Given the description of an element on the screen output the (x, y) to click on. 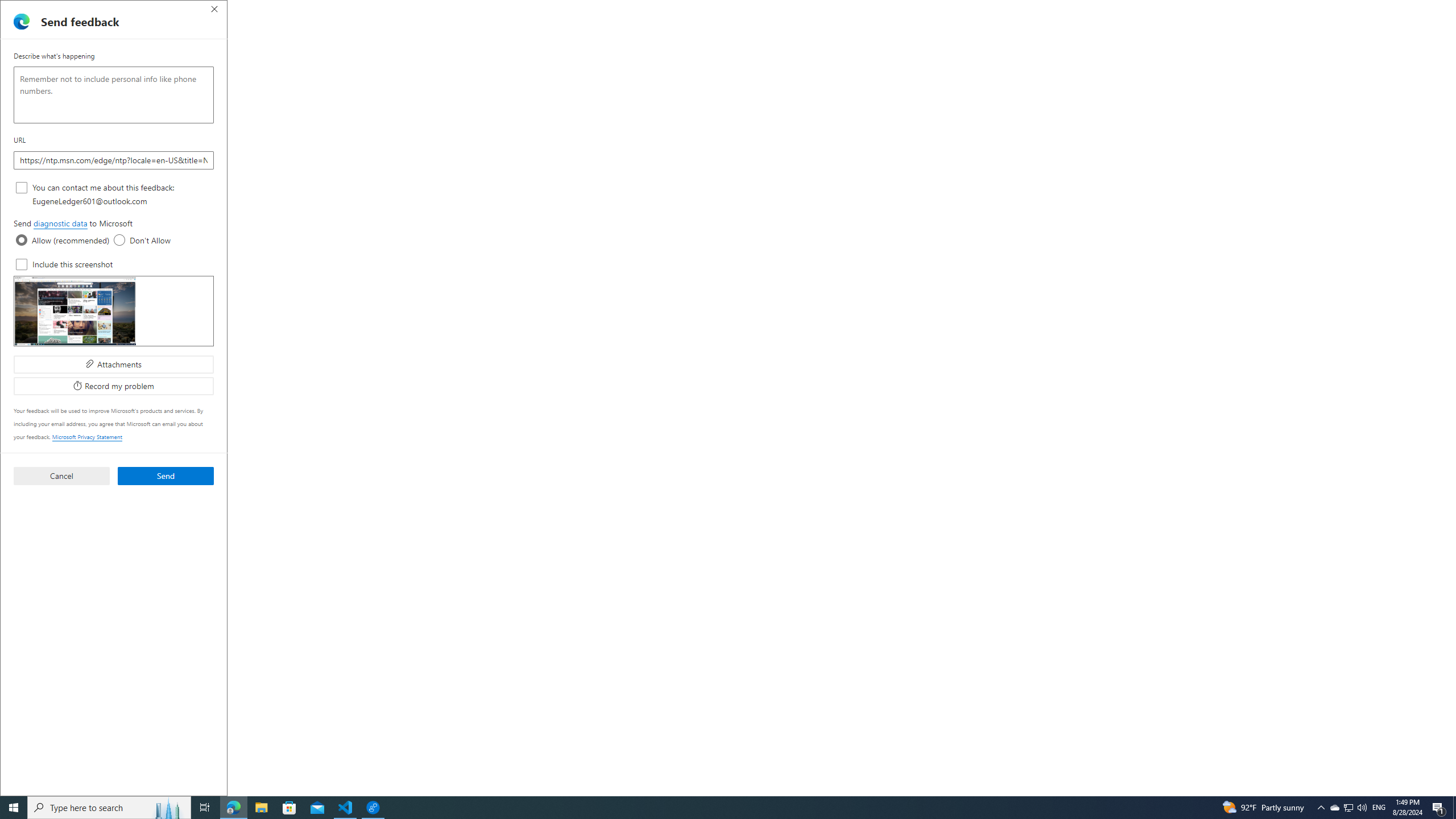
App bar (728, 29)
What's the best AI voice generator? - voice.ai - Sleeping (337, 9)
Minimize (1390, 9)
Privacy report (514, 54)
Split screen (1344, 29)
Personal Profile (12, 9)
Untitled (906, 9)
 What's new? (408, 133)
Microsoft (306, 56)
Enterprise and developer products (731, 508)
Privacy Statement (645, 54)
Day 1: Arriving in Yemen (surreal to be here) - YouTube (884, 9)
New tab (1178, 9)
